Given the description of an element on the screen output the (x, y) to click on. 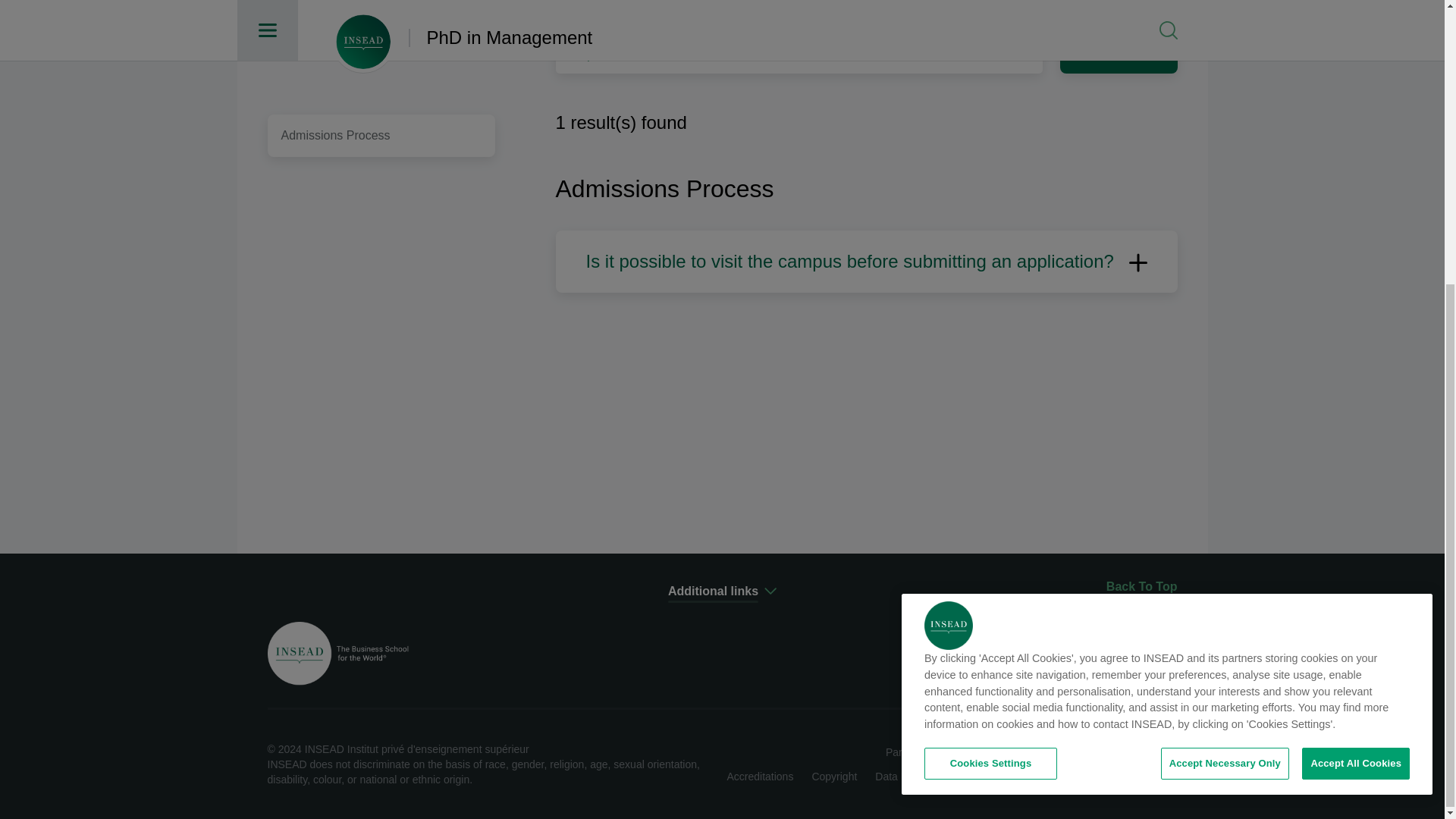
Search (1118, 52)
